Given the description of an element on the screen output the (x, y) to click on. 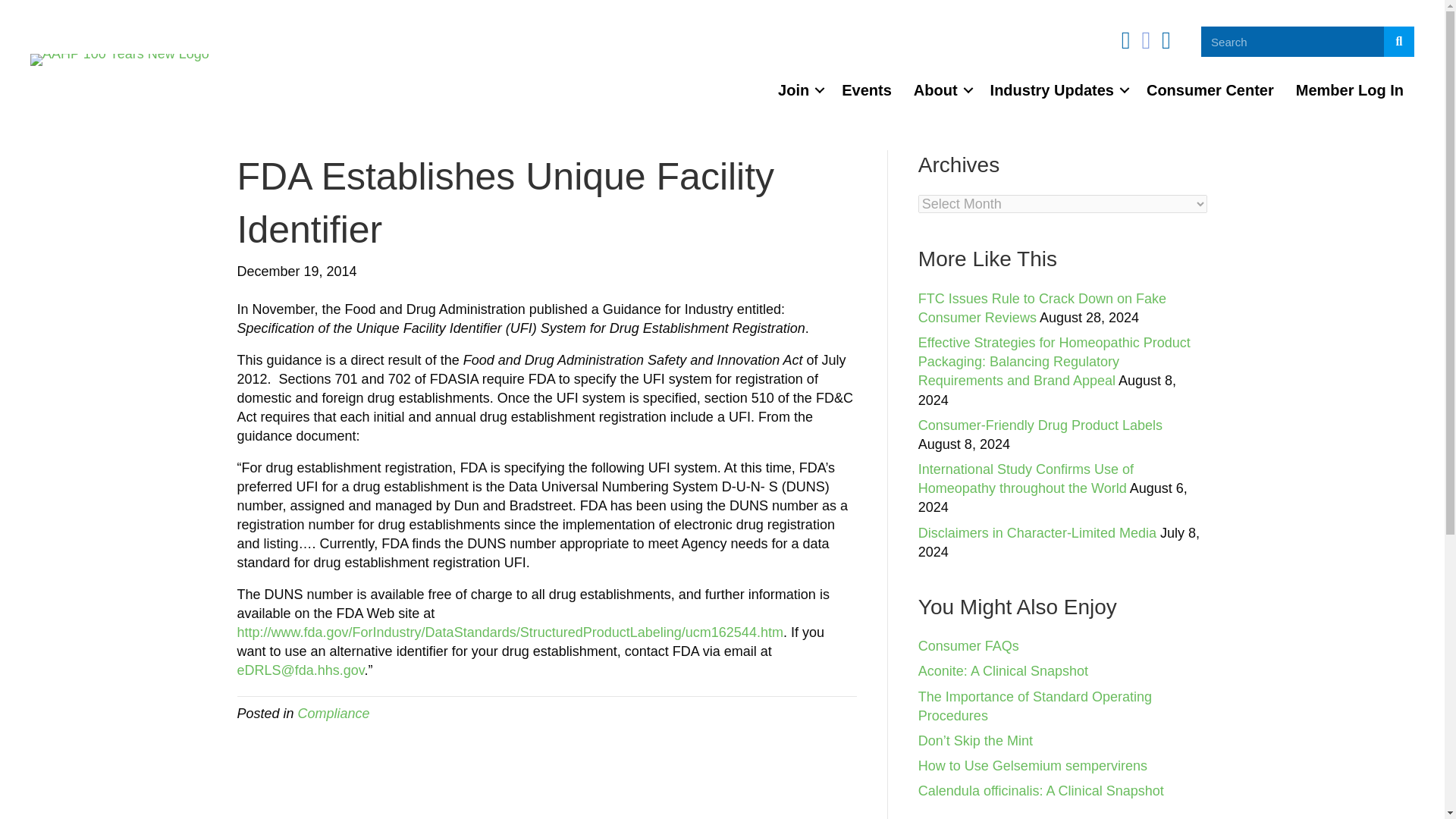
About (940, 90)
Consumer-Friendly Drug Product Labels (1039, 425)
Aconite: A Clinical Snapshot (1002, 670)
Disclaimers in Character-Limited Media (1037, 532)
Compliance (333, 713)
Member Log In (1349, 90)
Consumer FAQs (968, 645)
Consumer Center (1209, 90)
Industry Updates (1057, 90)
